Given the description of an element on the screen output the (x, y) to click on. 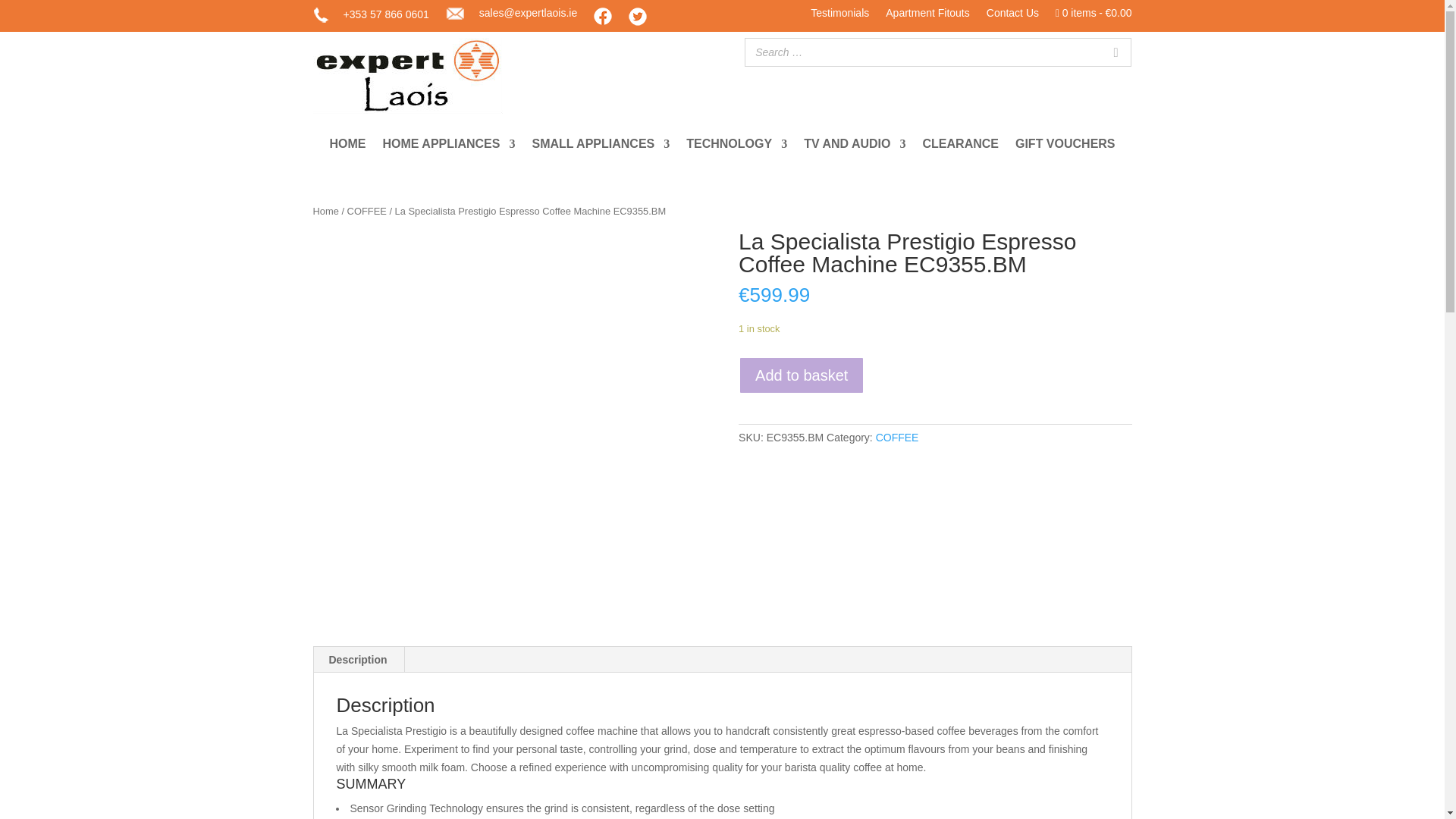
HOME APPLIANCES (448, 146)
Contact Us (1013, 16)
Start shopping (1093, 16)
HOME (347, 146)
Apartment Fitouts (927, 16)
Expert Laois Logo 2018 250 (407, 75)
Testimonials (839, 16)
